Given the description of an element on the screen output the (x, y) to click on. 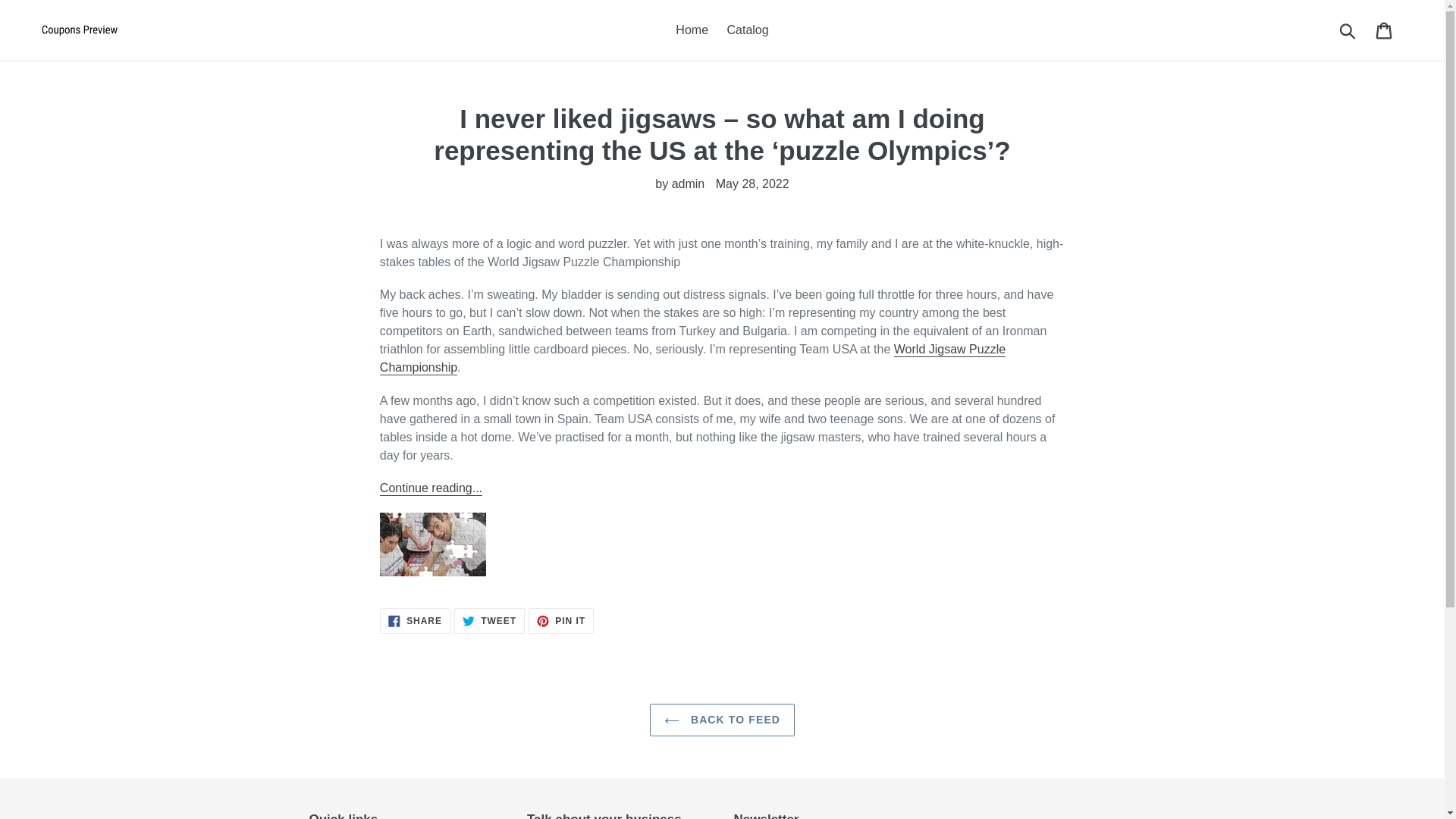
World Jigsaw Puzzle Championship (693, 359)
Cart (1385, 29)
BACK TO FEED (721, 719)
Catalog (561, 620)
Continue reading... (414, 620)
Submit (489, 620)
Home (747, 29)
